Given the description of an element on the screen output the (x, y) to click on. 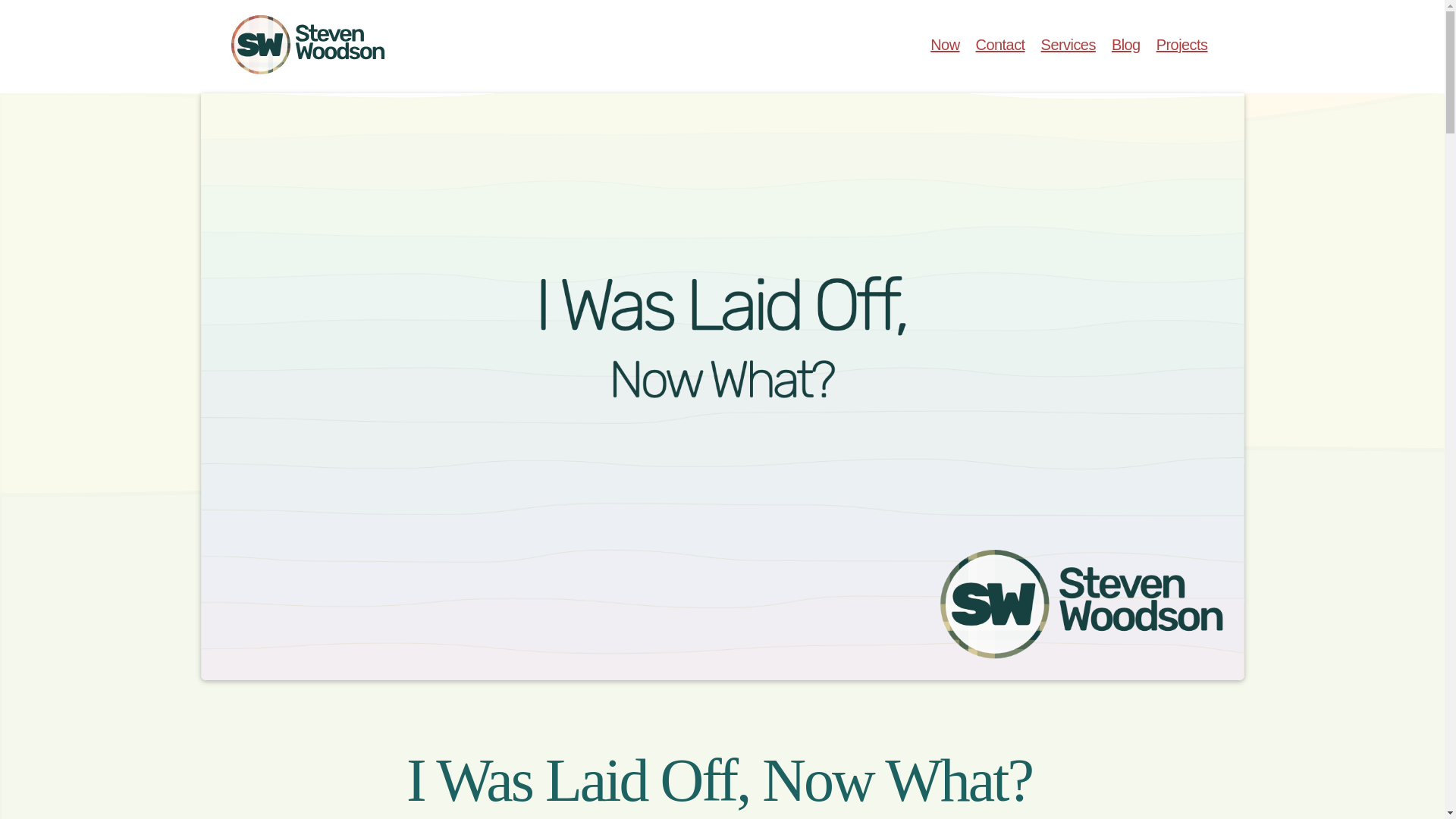
I Was Laid Off, Now What? (719, 780)
Services (1068, 44)
Blog (1126, 44)
Projects (1182, 44)
Homepage (323, 44)
Now (944, 44)
Contact (999, 44)
